Given the description of an element on the screen output the (x, y) to click on. 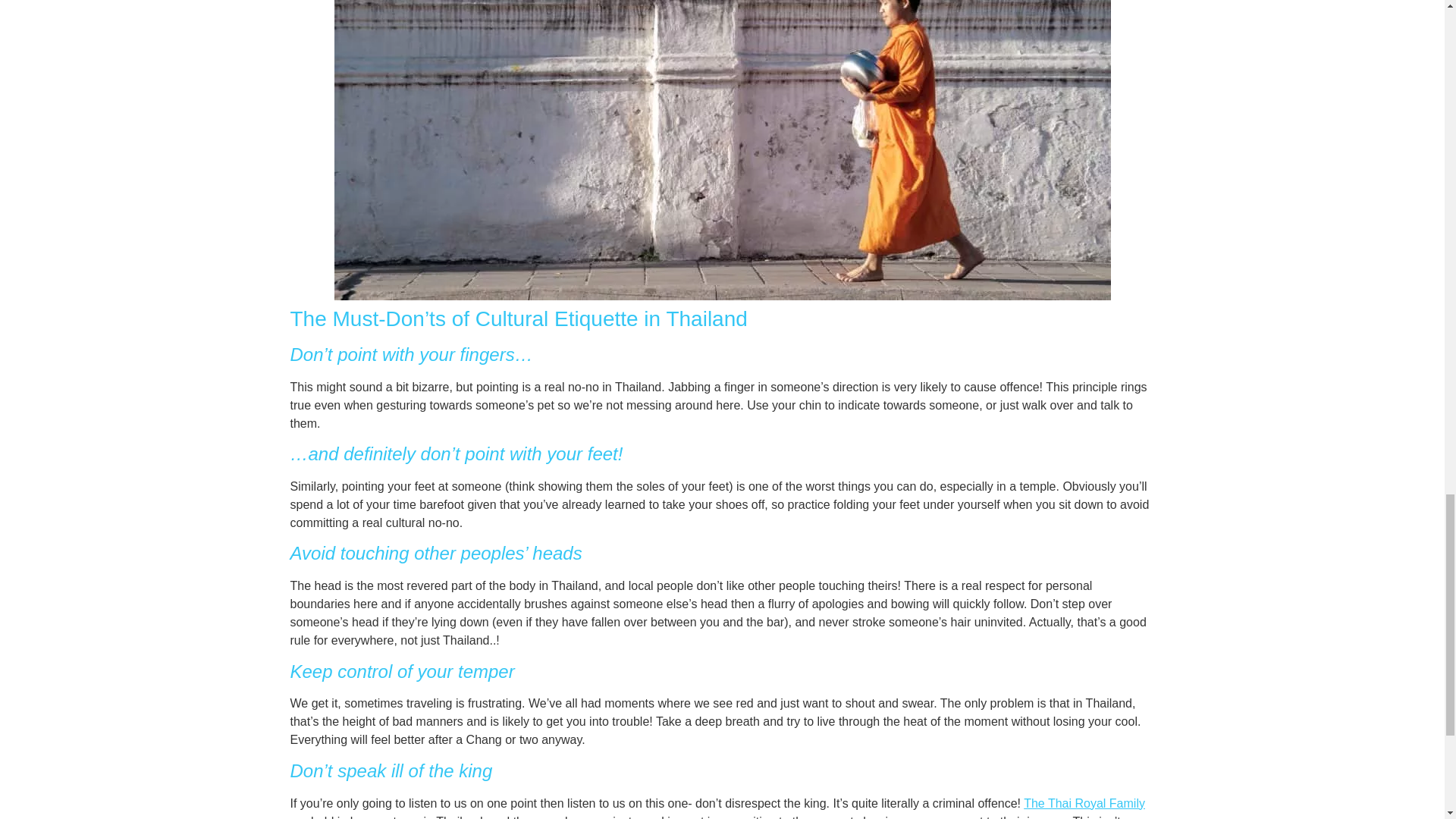
The Thai Royal Family (1083, 802)
